Given the description of an element on the screen output the (x, y) to click on. 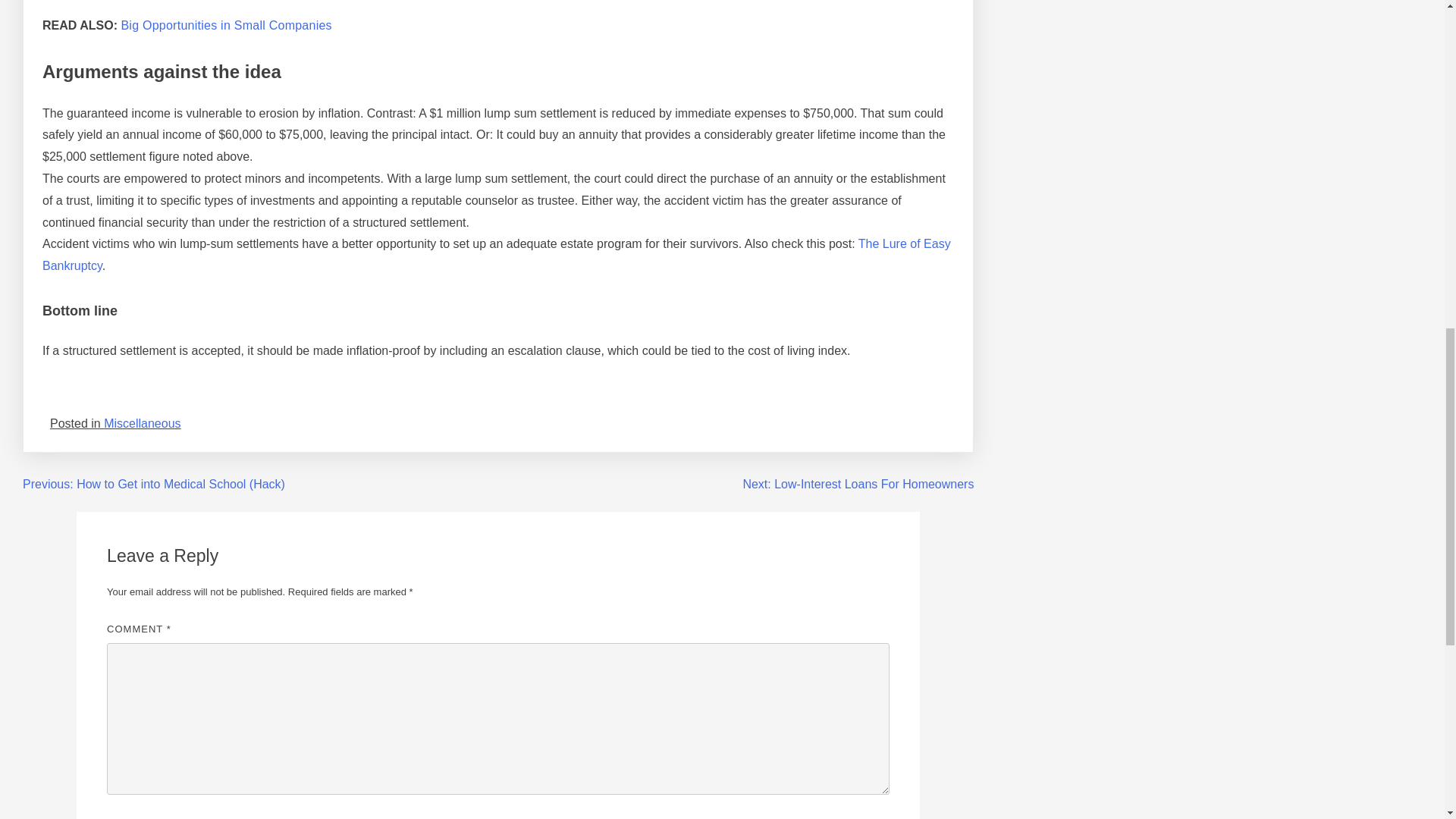
Miscellaneous (141, 422)
The Lure of Easy Bankruptcy (496, 254)
Big Opportunities in Small Companies (225, 24)
Next: Low-Interest Loans For Homeowners (858, 483)
